Given the description of an element on the screen output the (x, y) to click on. 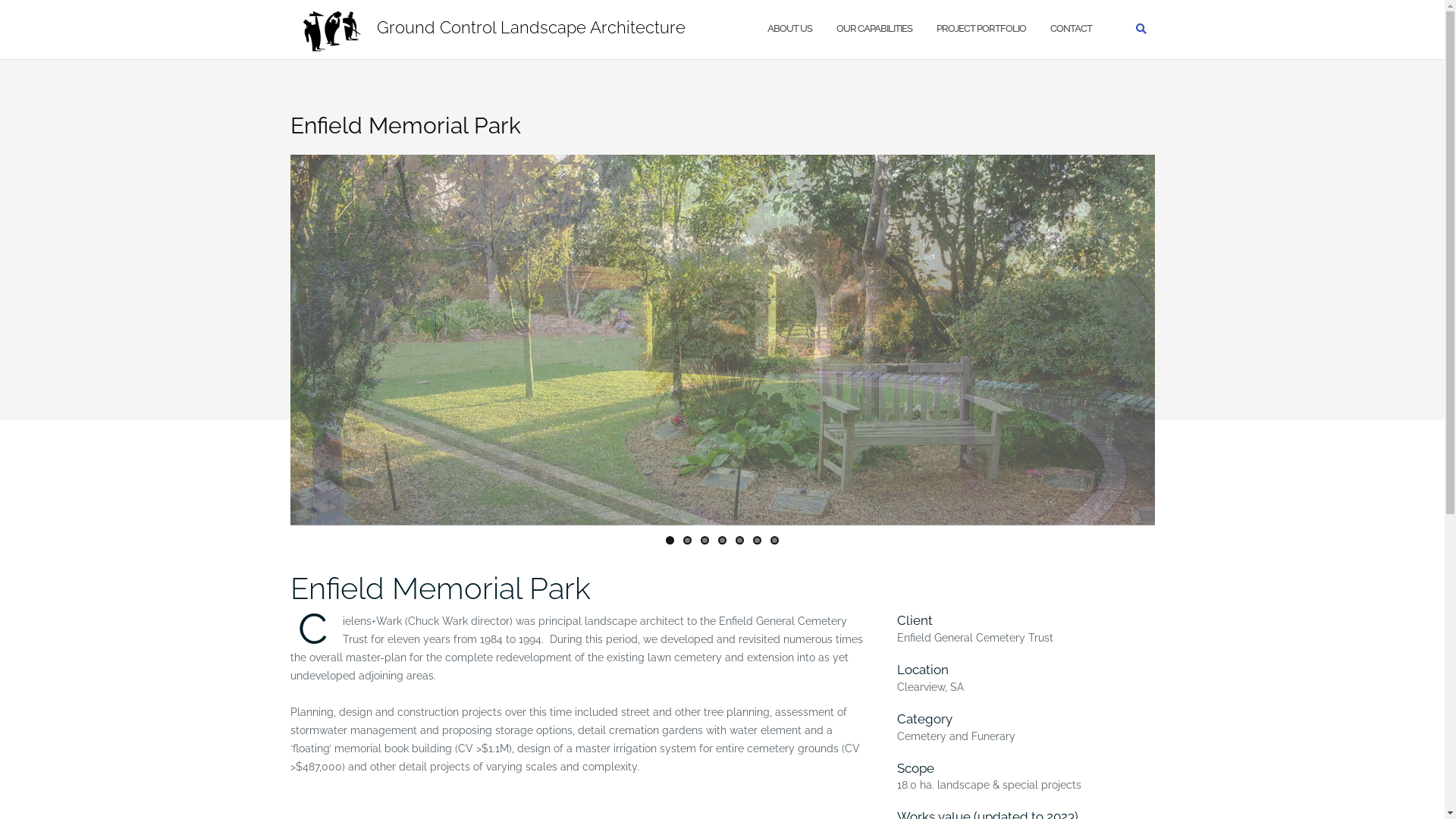
2 Element type: text (687, 540)
Enfield Memorial Park Element type: text (439, 587)
OUR CAPABILITIES Element type: text (873, 29)
1 Element type: text (669, 540)
CONTACT Element type: text (1070, 29)
PROJECT PORTFOLIO Element type: text (980, 29)
ABOUT US Element type: text (789, 29)
5 Element type: text (739, 540)
3 Element type: text (704, 540)
7 Element type: text (774, 540)
6 Element type: text (757, 540)
4 Element type: text (722, 540)
